Given the description of an element on the screen output the (x, y) to click on. 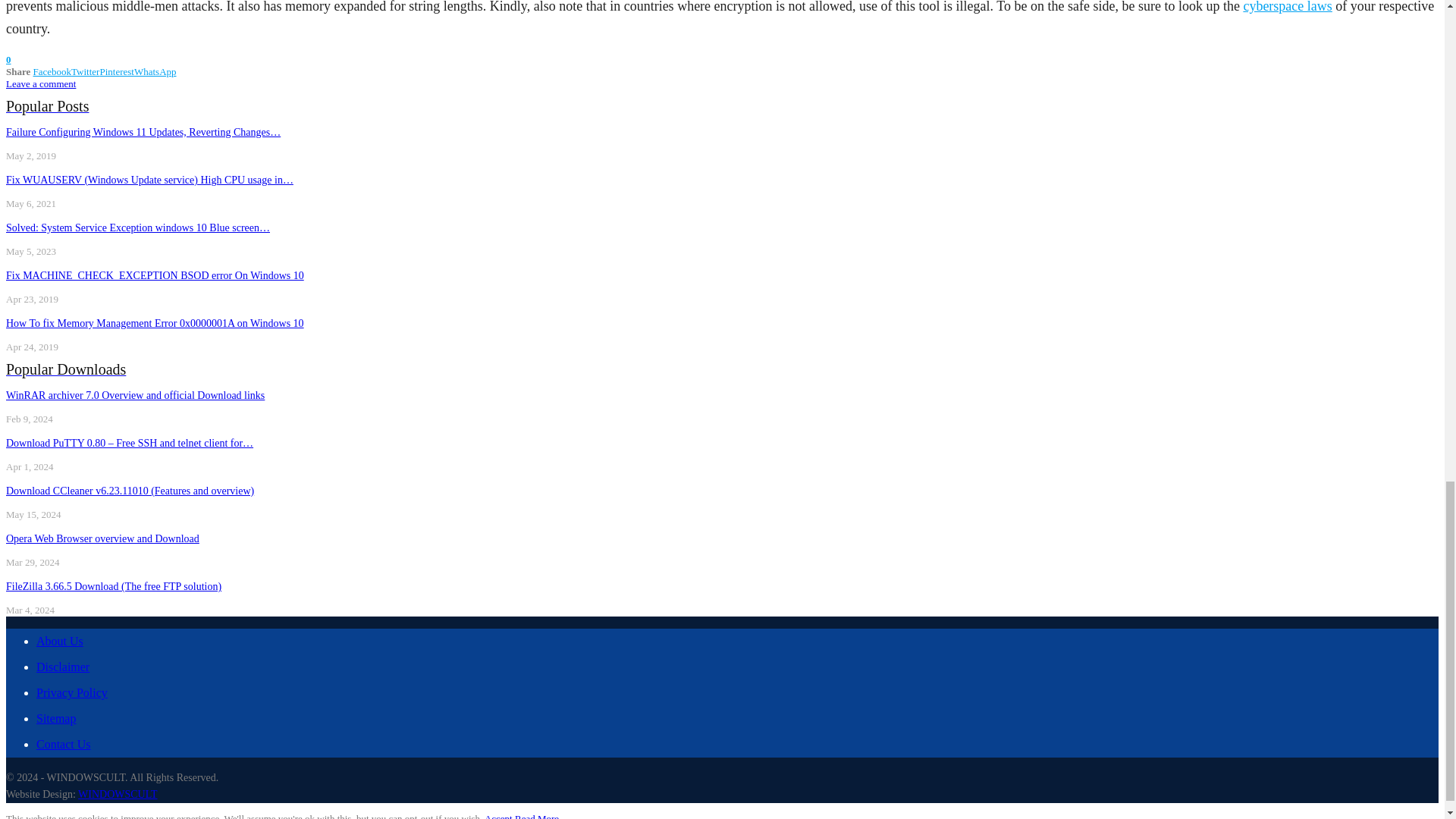
How To fix Memory Management Error 0x0000001A on Windows 10 (154, 323)
Leave a comment (40, 83)
cyberspace laws (1287, 6)
Pinterest (116, 71)
Popular Downloads (65, 370)
Popular Posts (46, 107)
Facebook (52, 71)
WhatsApp (154, 71)
Twitter (85, 71)
